Given the description of an element on the screen output the (x, y) to click on. 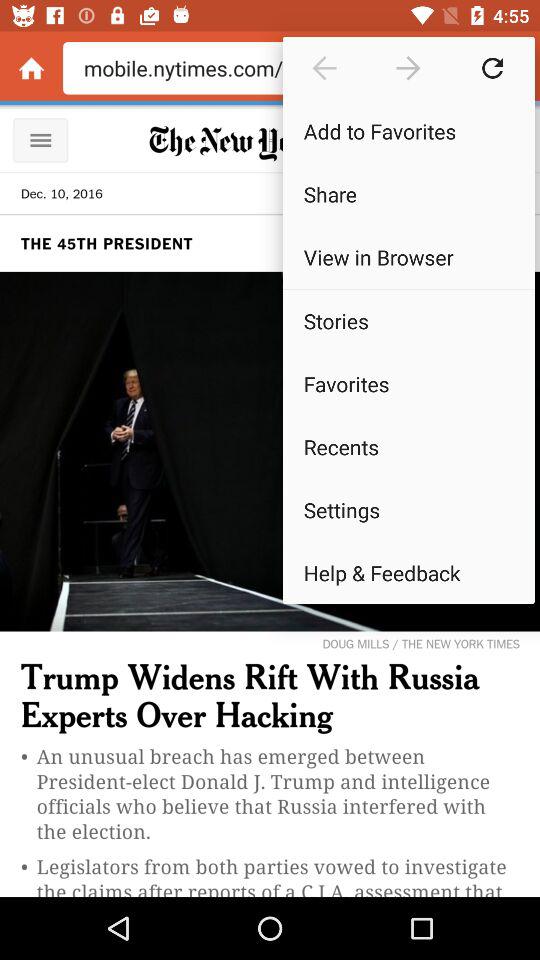
swipe until the add to favorites (408, 130)
